Given the description of an element on the screen output the (x, y) to click on. 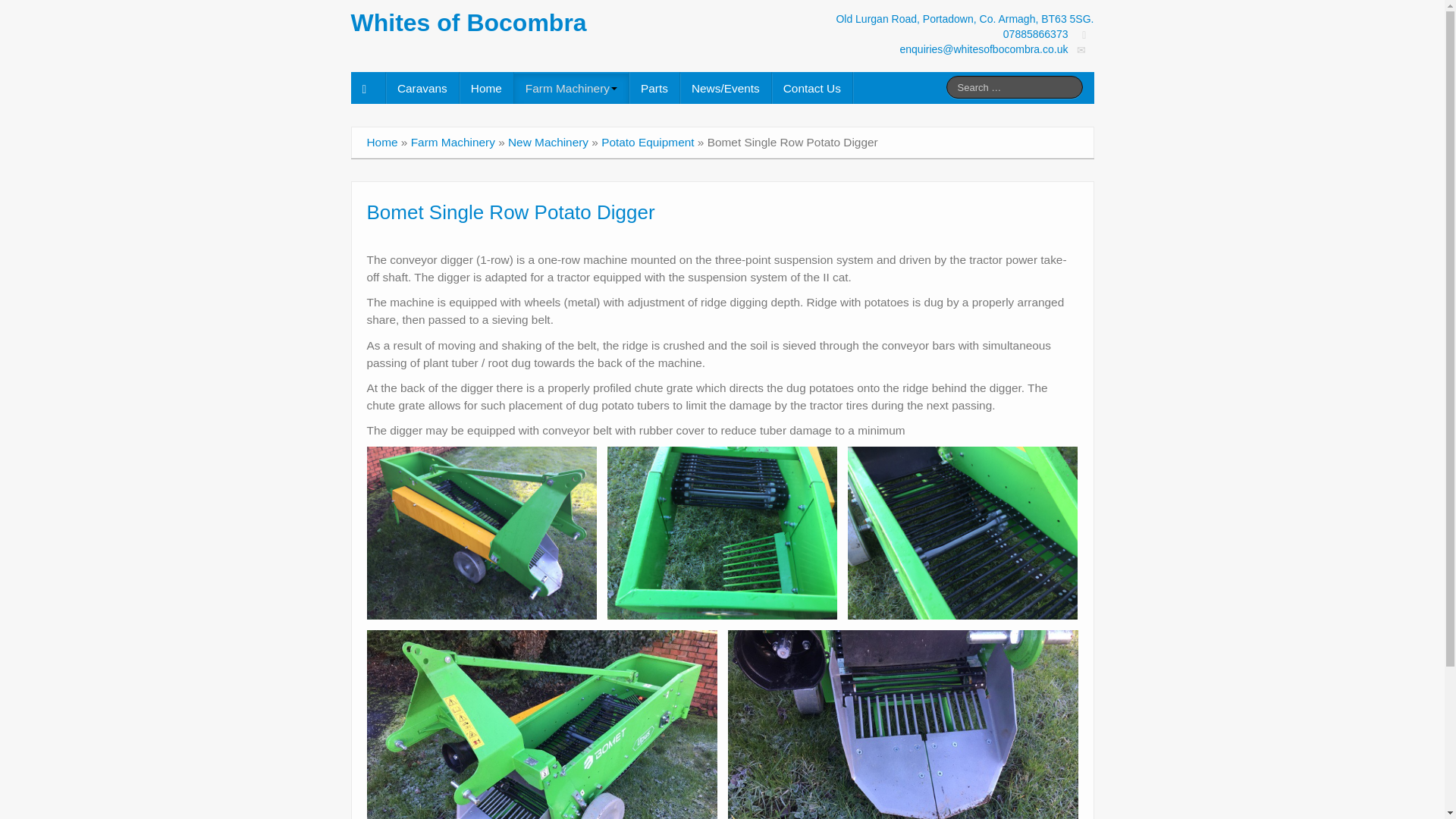
Home (486, 88)
Caravans (421, 88)
Farm Machinery (570, 88)
Whites of Bocombra (468, 22)
Whites of Bocombra (468, 22)
